Given the description of an element on the screen output the (x, y) to click on. 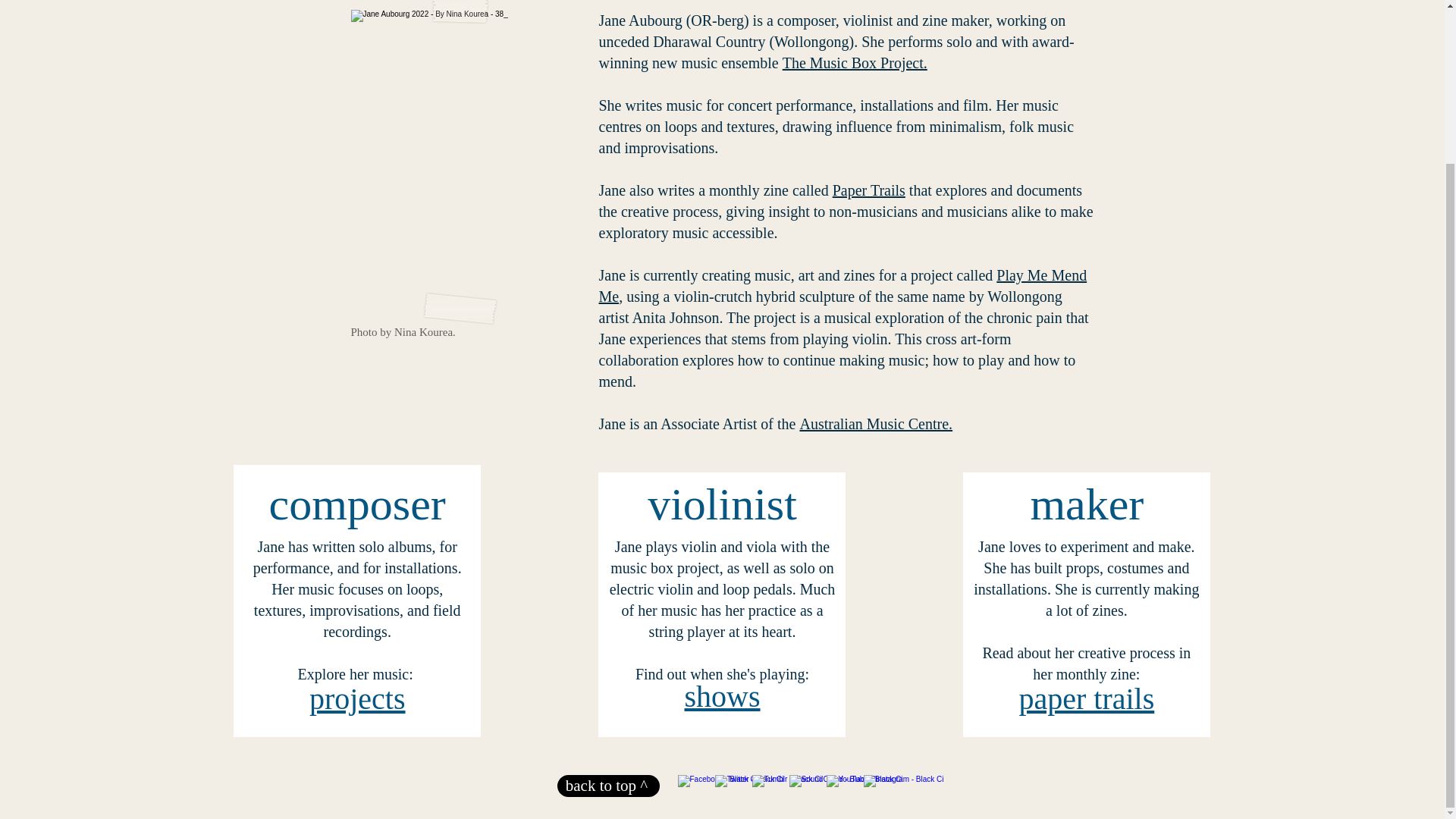
Read about her creative process in her monthly zine: (1086, 663)
projects (357, 698)
the music box project (719, 557)
Play Me Mend Me (842, 285)
The Music Box Project. (855, 62)
Explore her music:  (357, 673)
Paper Trails (868, 190)
Australian Music Centre. (875, 423)
shows (722, 696)
paper trails (1085, 698)
